Given the description of an element on the screen output the (x, y) to click on. 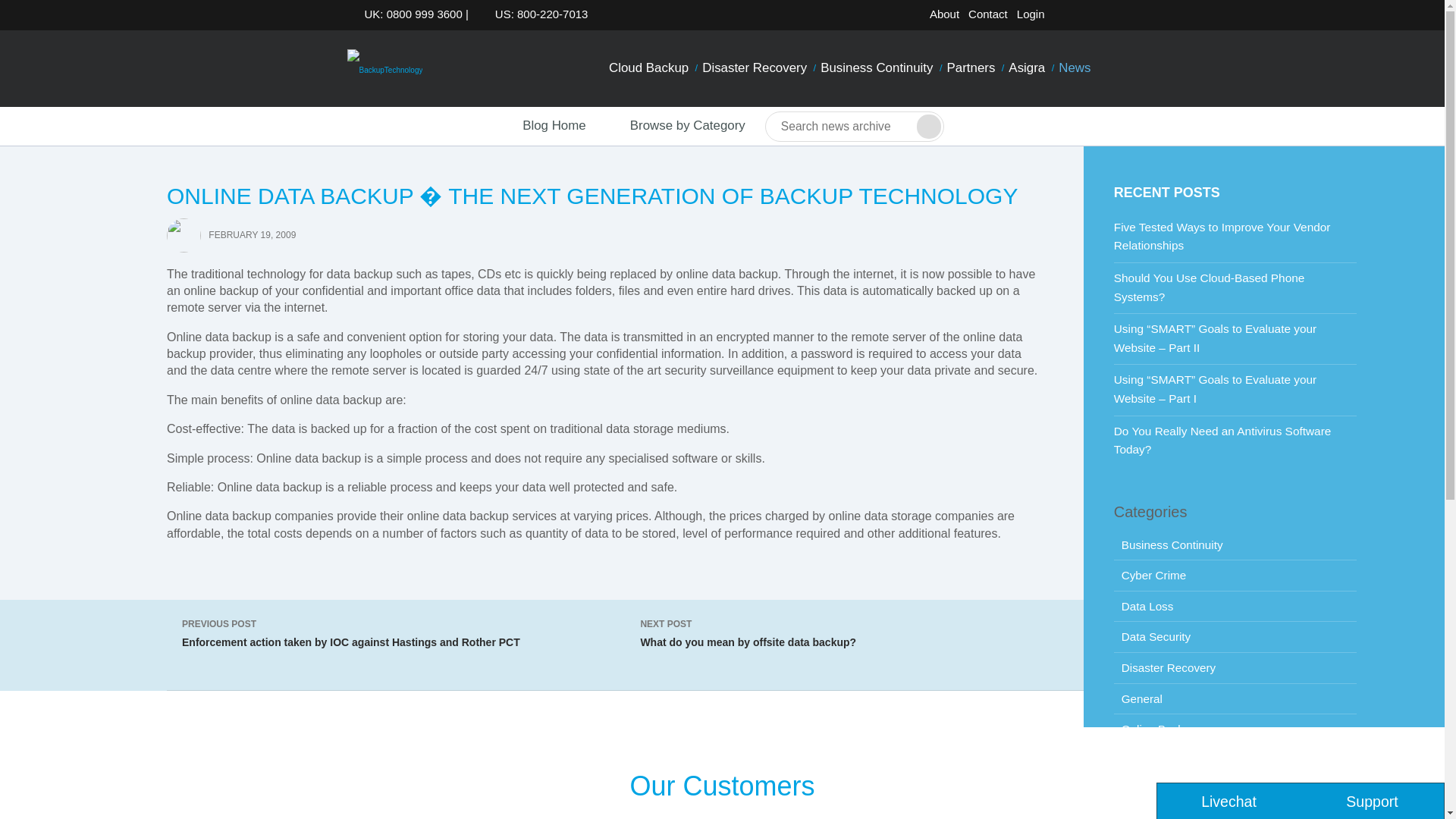
Disaster Recovery (754, 68)
Asigra (1026, 68)
Blog Home (539, 126)
Business Continuity (876, 68)
View all posts by . (183, 234)
twitter (1064, 17)
Facebook (1088, 17)
About (943, 14)
Search (928, 126)
Partners (971, 68)
Search (928, 126)
Browse by Category (675, 126)
News (1074, 68)
US: 800-220-7013 (536, 14)
Contact (987, 14)
